Given the description of an element on the screen output the (x, y) to click on. 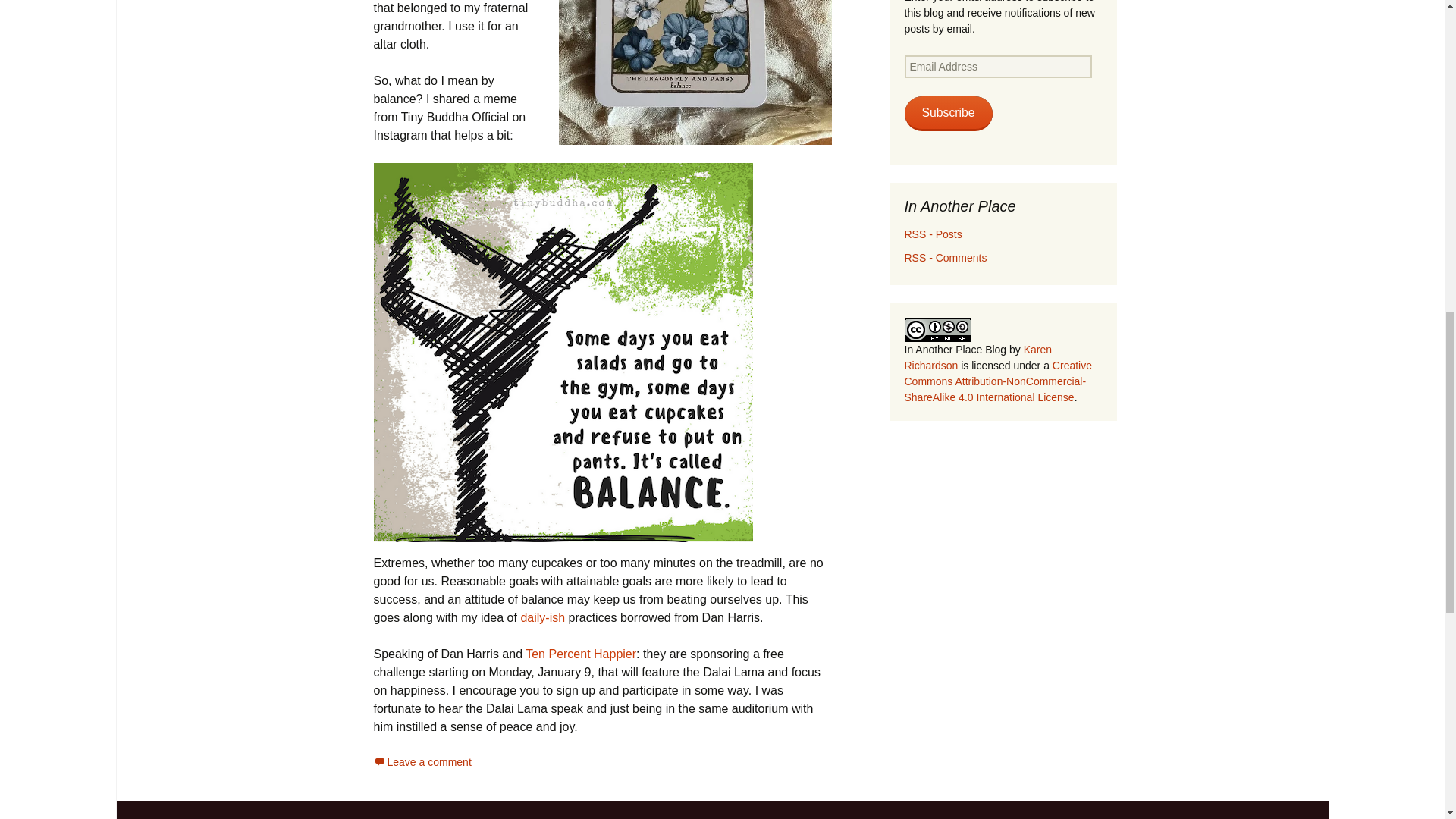
daily-ish (541, 617)
Ten Percent Happier (580, 653)
RSS - Posts (932, 234)
Karen Richardson (977, 357)
Subscribe (947, 113)
Leave a comment (421, 761)
RSS - Comments (945, 257)
Subscribe to posts (932, 234)
Subscribe to comments (945, 257)
